Given the description of an element on the screen output the (x, y) to click on. 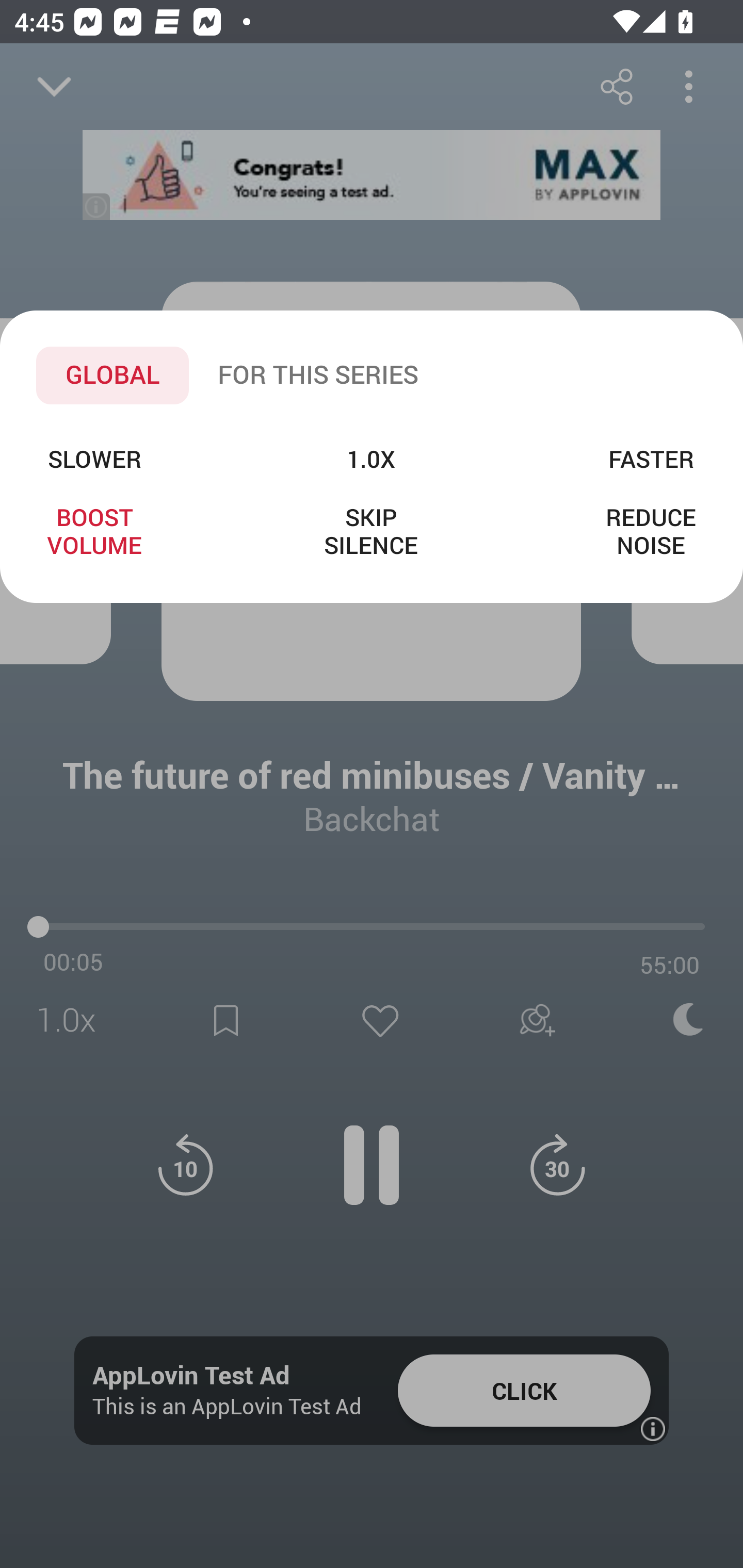
GLOBAL (112, 375)
FOR THIS SERIES (317, 375)
SLOWER (94, 457)
1.0X (370, 457)
FASTER (650, 457)
BOOST
VOLUME (94, 530)
SKIP
SILENCE (370, 530)
REDUCE
NOISE (650, 530)
